Given the description of an element on the screen output the (x, y) to click on. 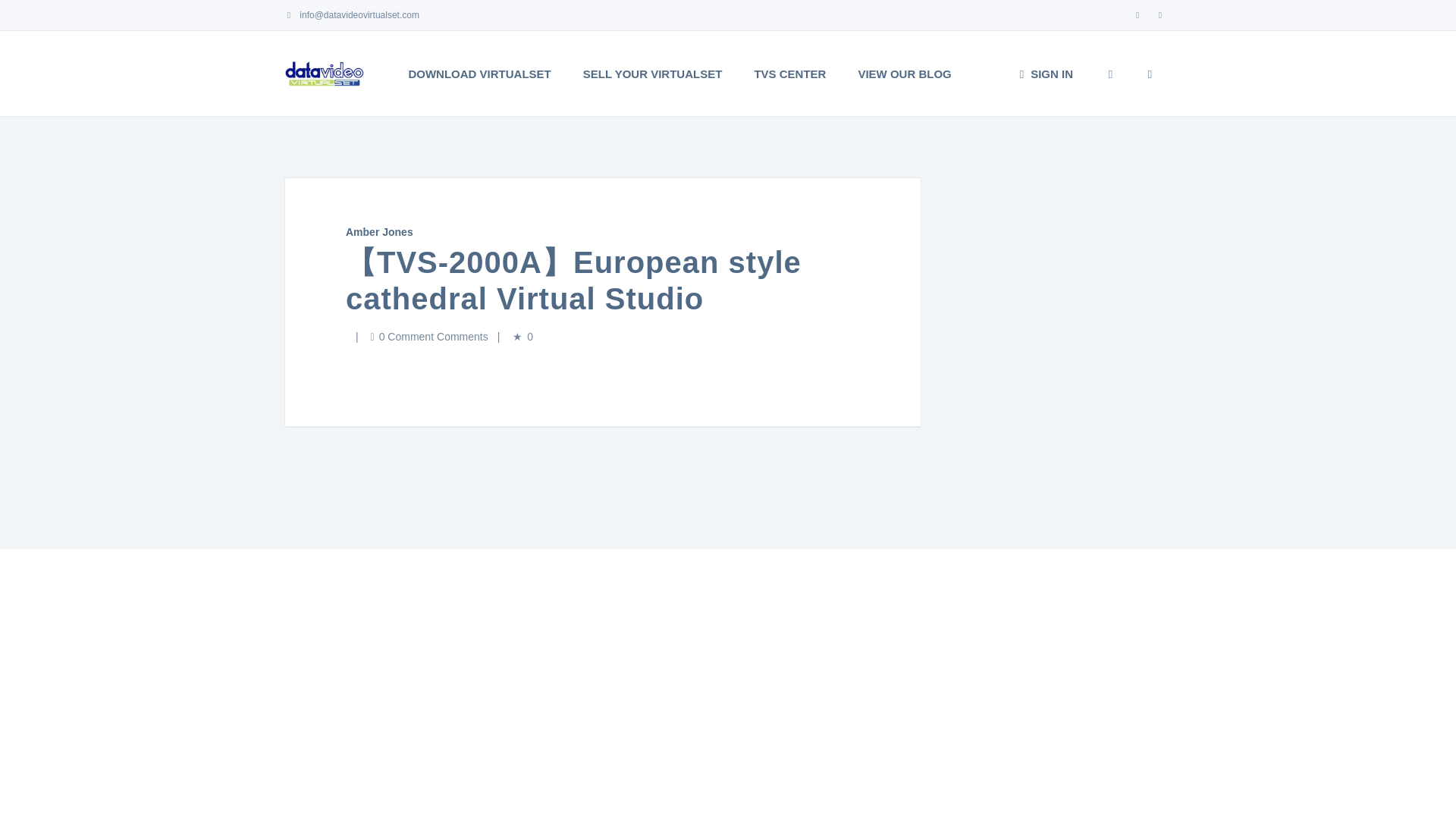
SELL YOUR VIRTUALSET (652, 74)
SIGN IN (1044, 74)
TVS CENTER (789, 74)
0 Comment (429, 336)
Post author (379, 232)
VIEW OUR BLOG (903, 74)
VIEW OUR BLOG (903, 74)
Amber Jones (379, 232)
DOWNLOAD VIRTUALSET (478, 74)
